Given the description of an element on the screen output the (x, y) to click on. 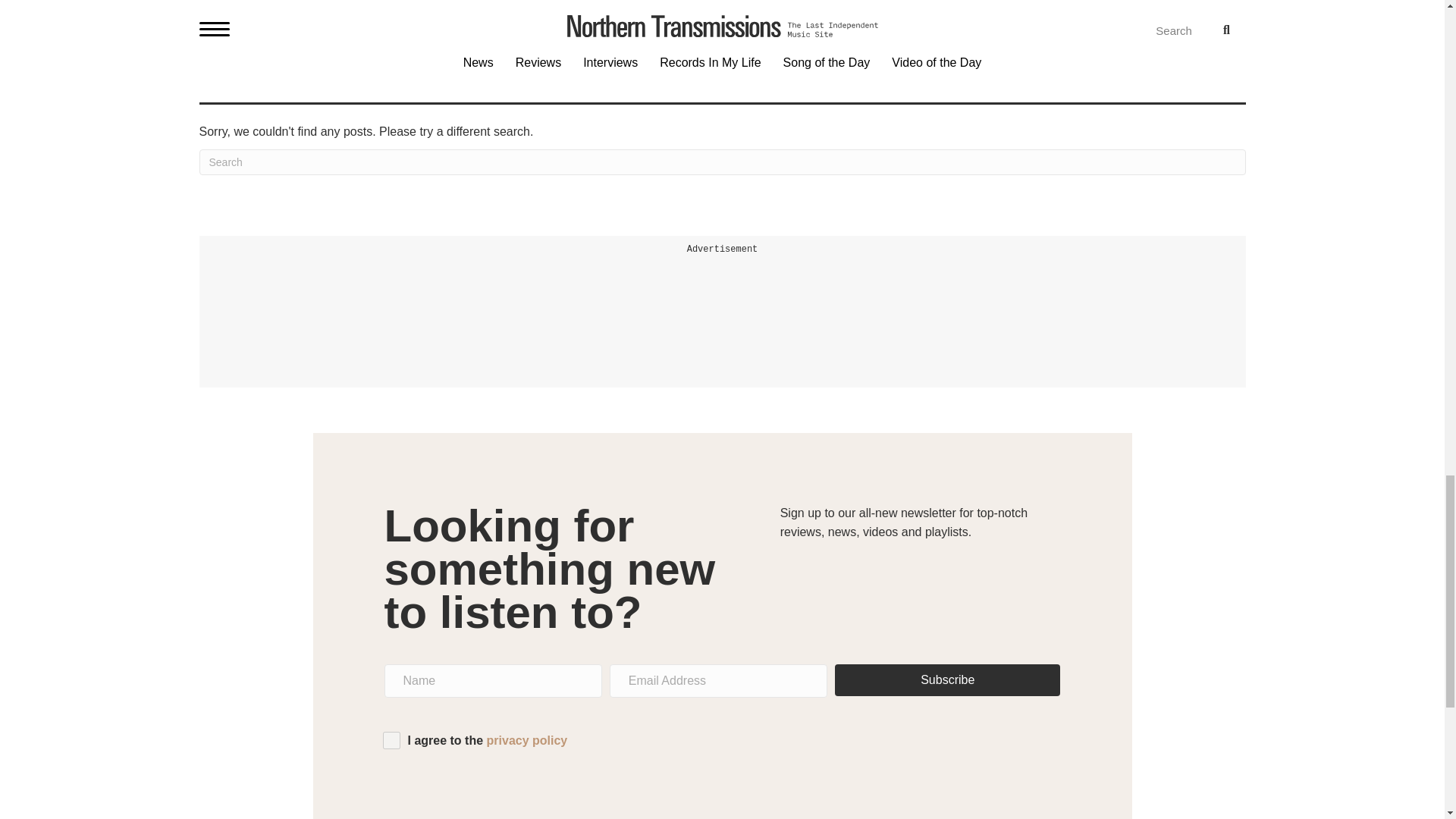
Subscribe (946, 680)
1 (389, 740)
privacy policy (526, 739)
